Given the description of an element on the screen output the (x, y) to click on. 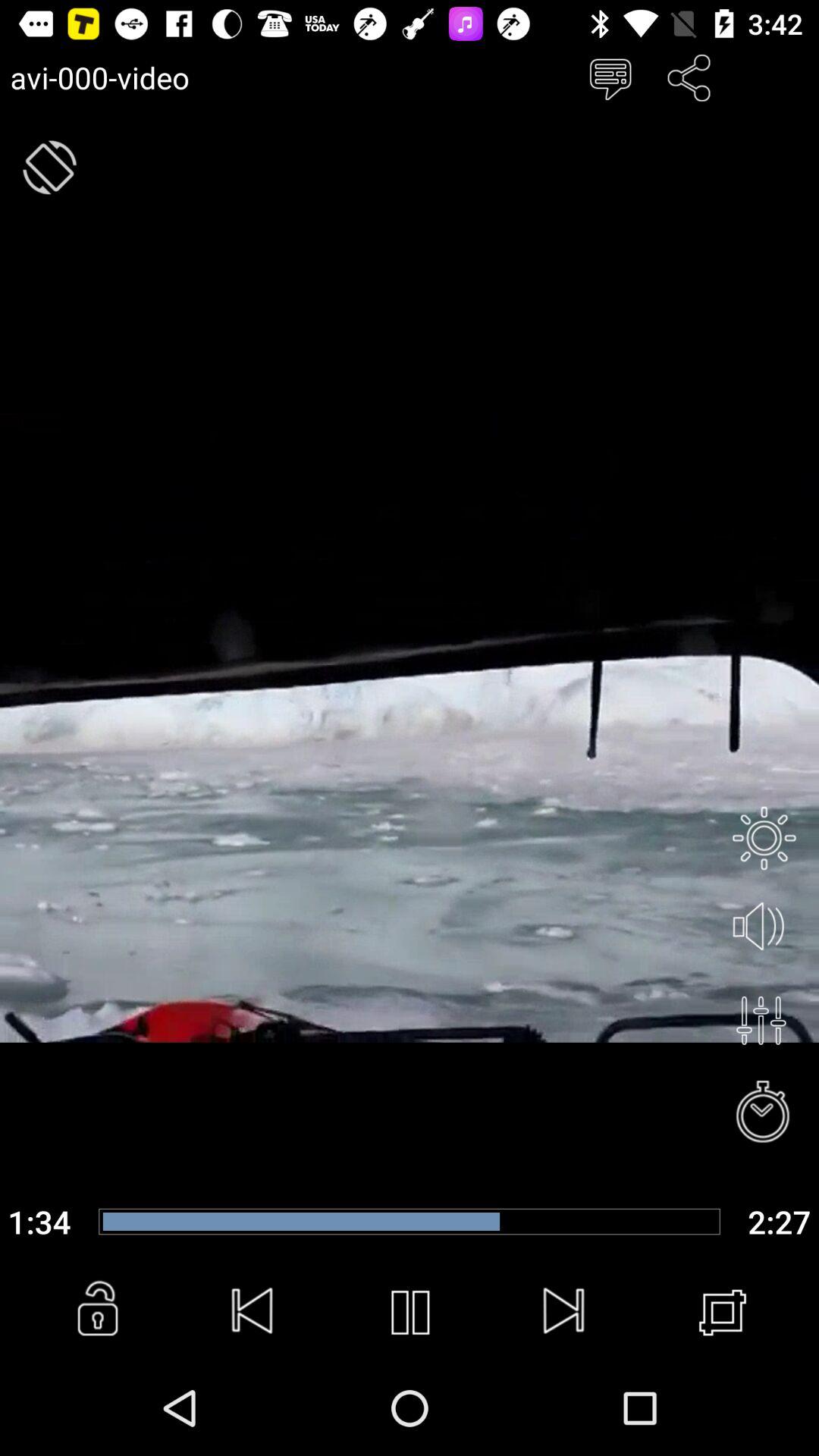
rotate the screen (49, 167)
